Given the description of an element on the screen output the (x, y) to click on. 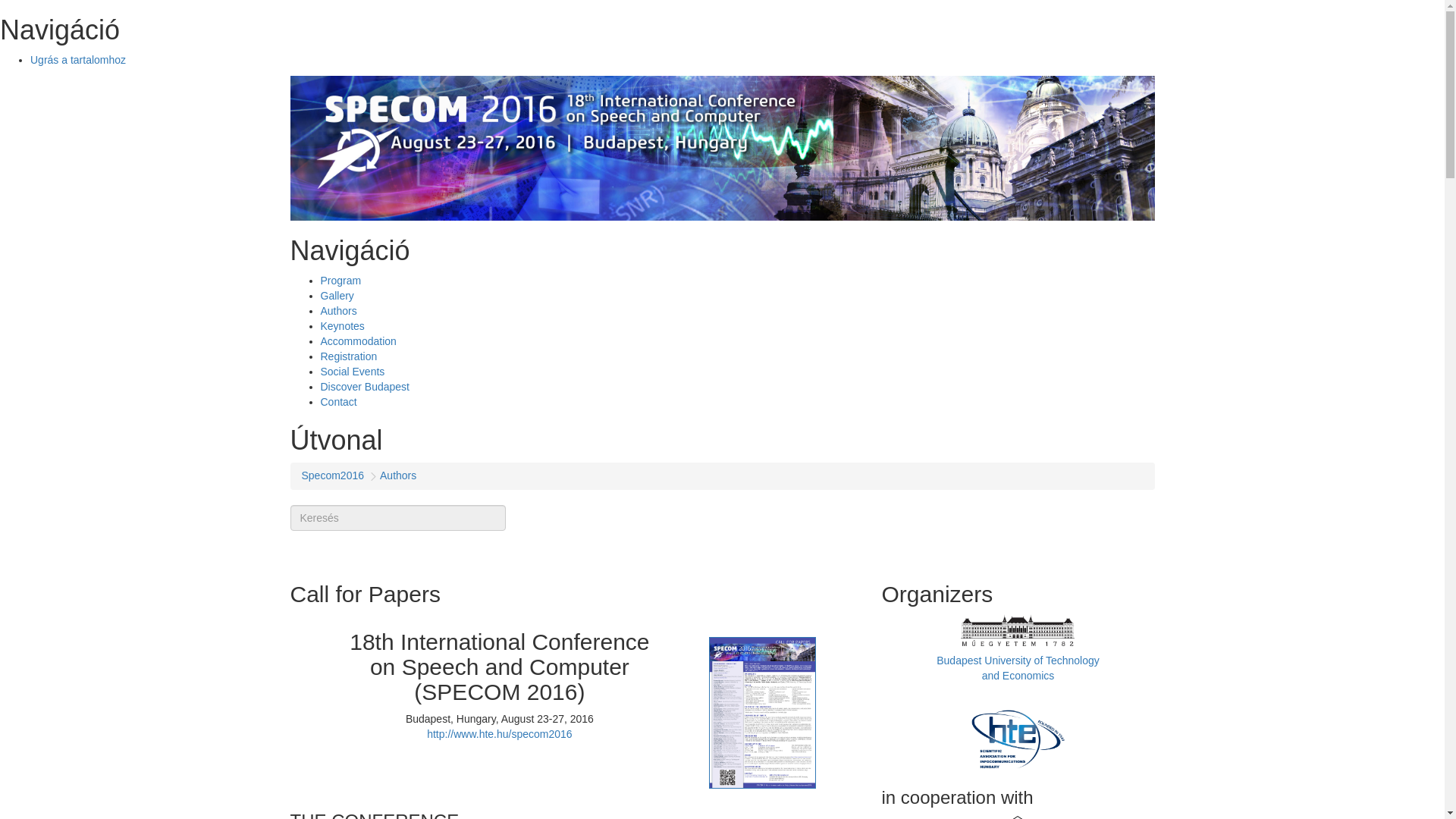
Authors (338, 310)
Accommodation (358, 340)
Gallery (336, 295)
Authors (398, 475)
Keynotes (342, 326)
Social Events (352, 371)
Specom2016 (333, 475)
Registration (348, 356)
Discover Budapest (364, 386)
Program (340, 280)
